Given the description of an element on the screen output the (x, y) to click on. 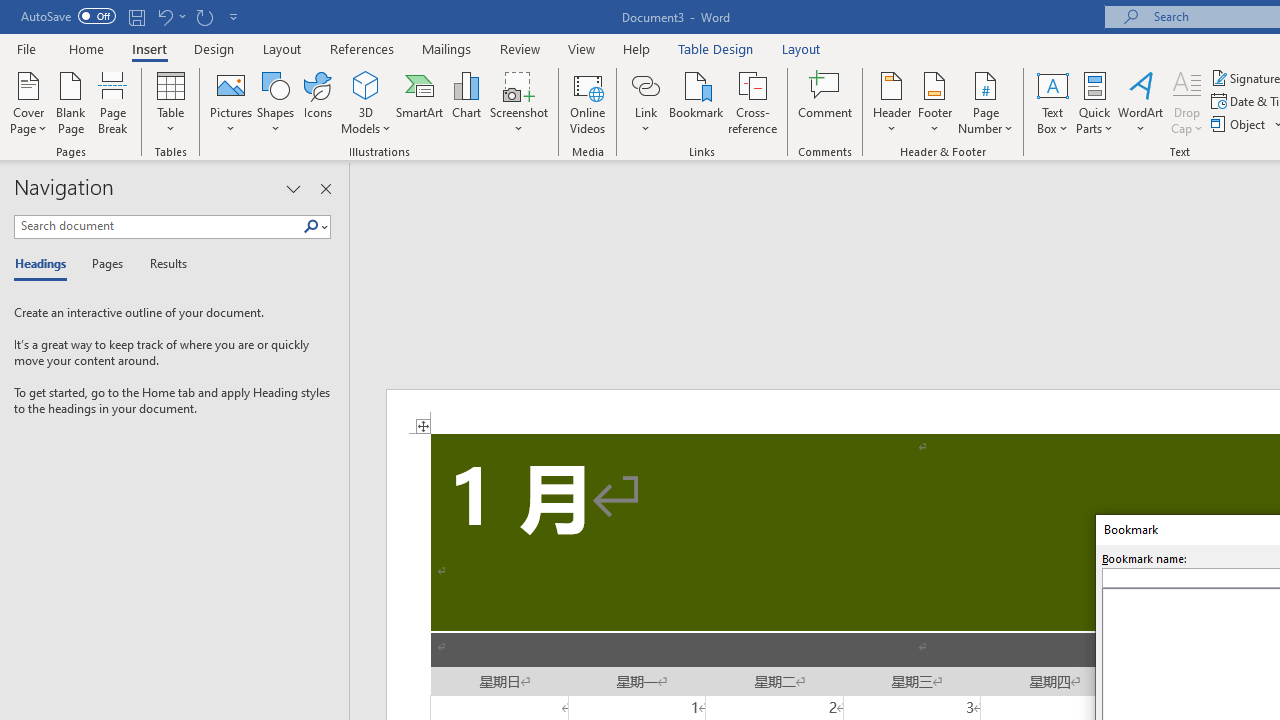
Close pane (325, 188)
Results (161, 264)
SmartArt... (419, 102)
Screenshot (518, 102)
Online Videos... (588, 102)
Review (520, 48)
Quick Access Toolbar (131, 16)
Undo Increase Indent (170, 15)
Shapes (275, 102)
References (362, 48)
Bookmark... (695, 102)
Blank Page (70, 102)
